Given the description of an element on the screen output the (x, y) to click on. 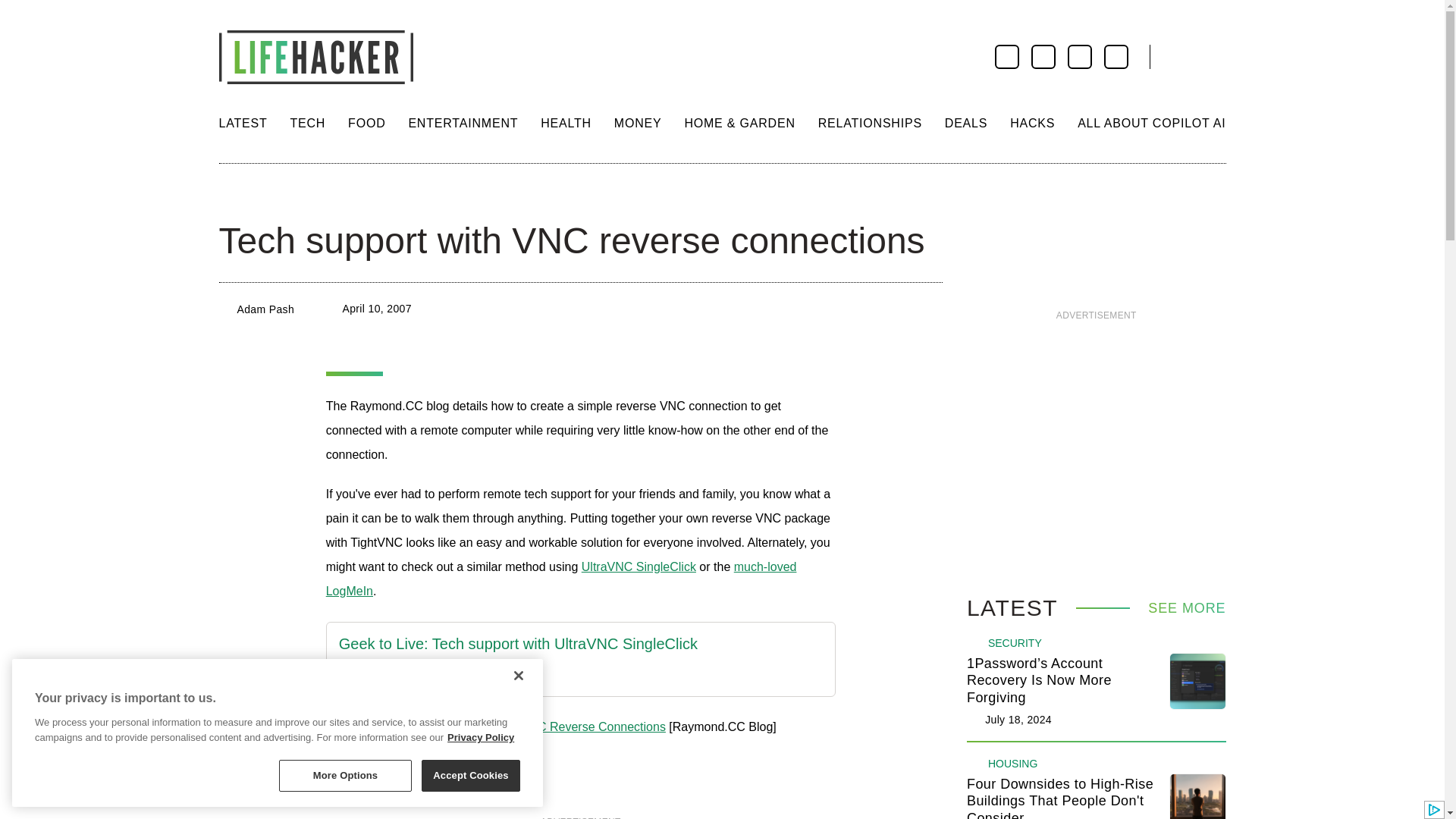
DEALS (965, 123)
HEALTH (565, 123)
open in a new window (561, 578)
ALL ABOUT COPILOT AI (1151, 123)
open in a new window (637, 566)
FOOD (366, 123)
MONEY (638, 123)
ENTERTAINMENT (462, 123)
RELATIONSHIPS (869, 123)
HACKS (1032, 123)
Social Share (232, 193)
open in a new window (518, 643)
LATEST (242, 123)
open in a new window (518, 674)
TECH (306, 123)
